Given the description of an element on the screen output the (x, y) to click on. 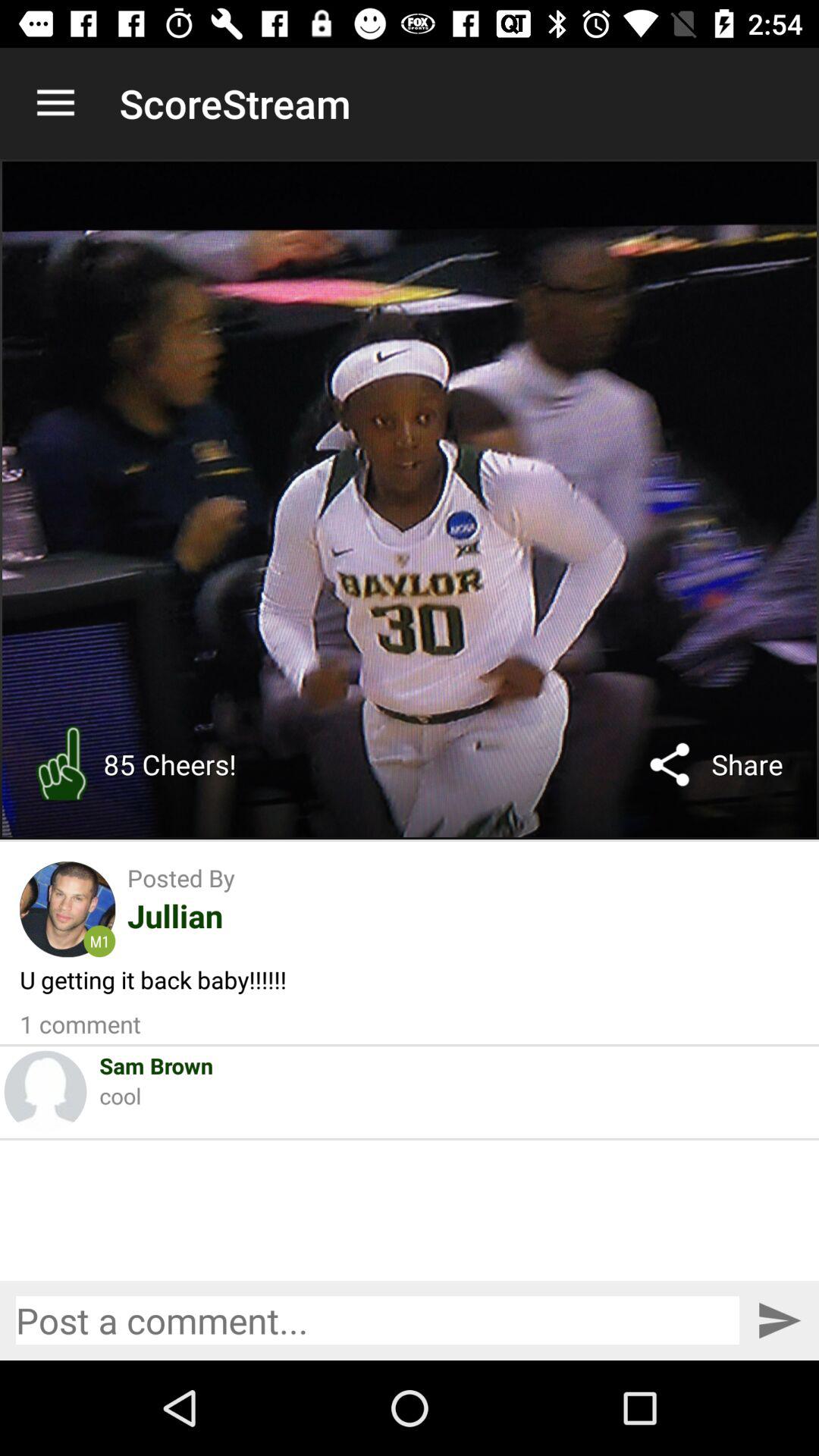
click the item next to 85 cheers! item (61, 764)
